Given the description of an element on the screen output the (x, y) to click on. 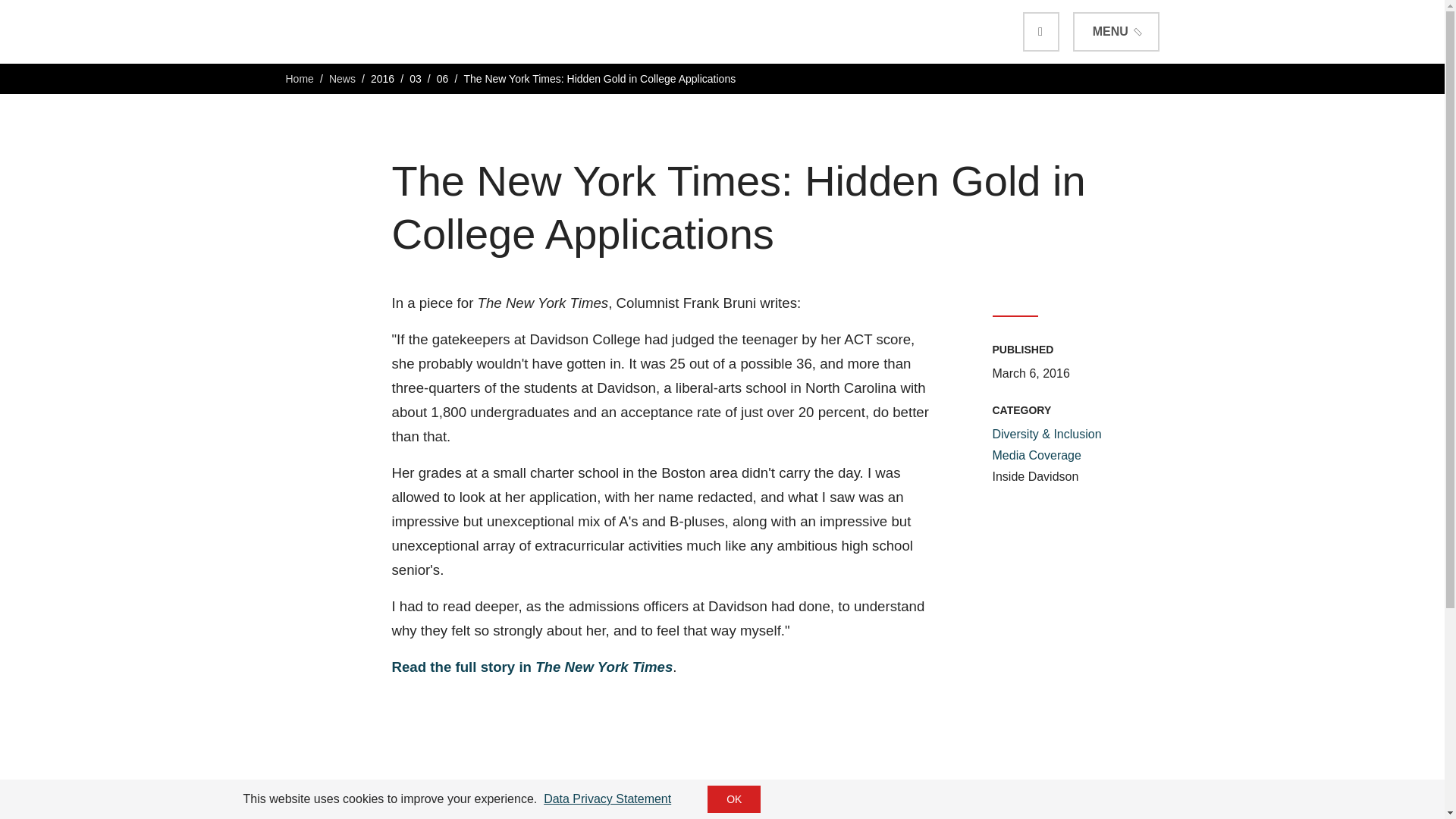
Home (299, 78)
News (342, 78)
Media Coverage (1035, 454)
OK (733, 799)
Read the full story in The New York Times (531, 666)
Data Privacy Statement (607, 798)
Data Privacy Statement (607, 798)
MENU (1115, 31)
